Given the description of an element on the screen output the (x, y) to click on. 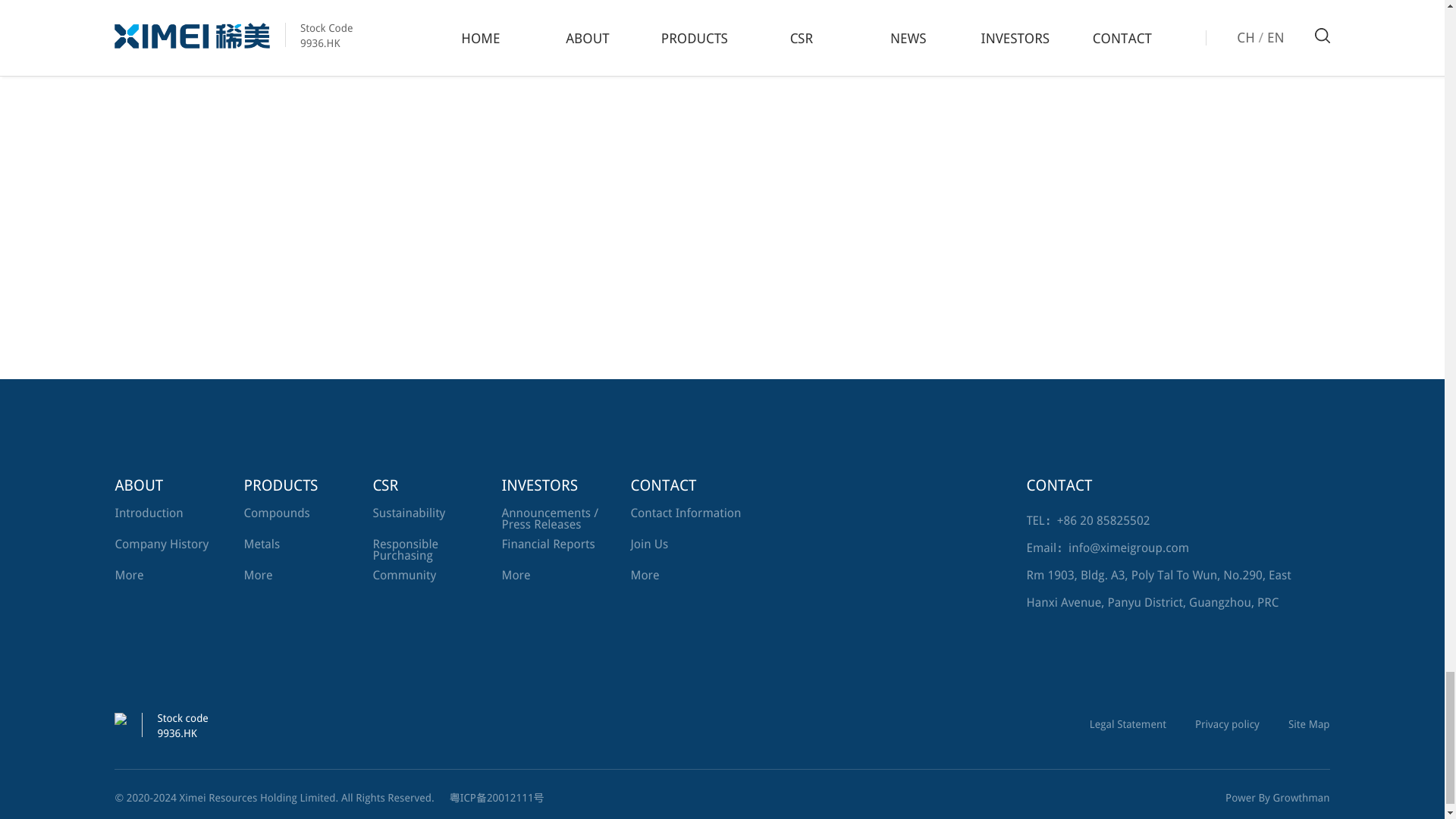
Company History (161, 544)
ABOUT (175, 485)
Introduction (149, 513)
